Given the description of an element on the screen output the (x, y) to click on. 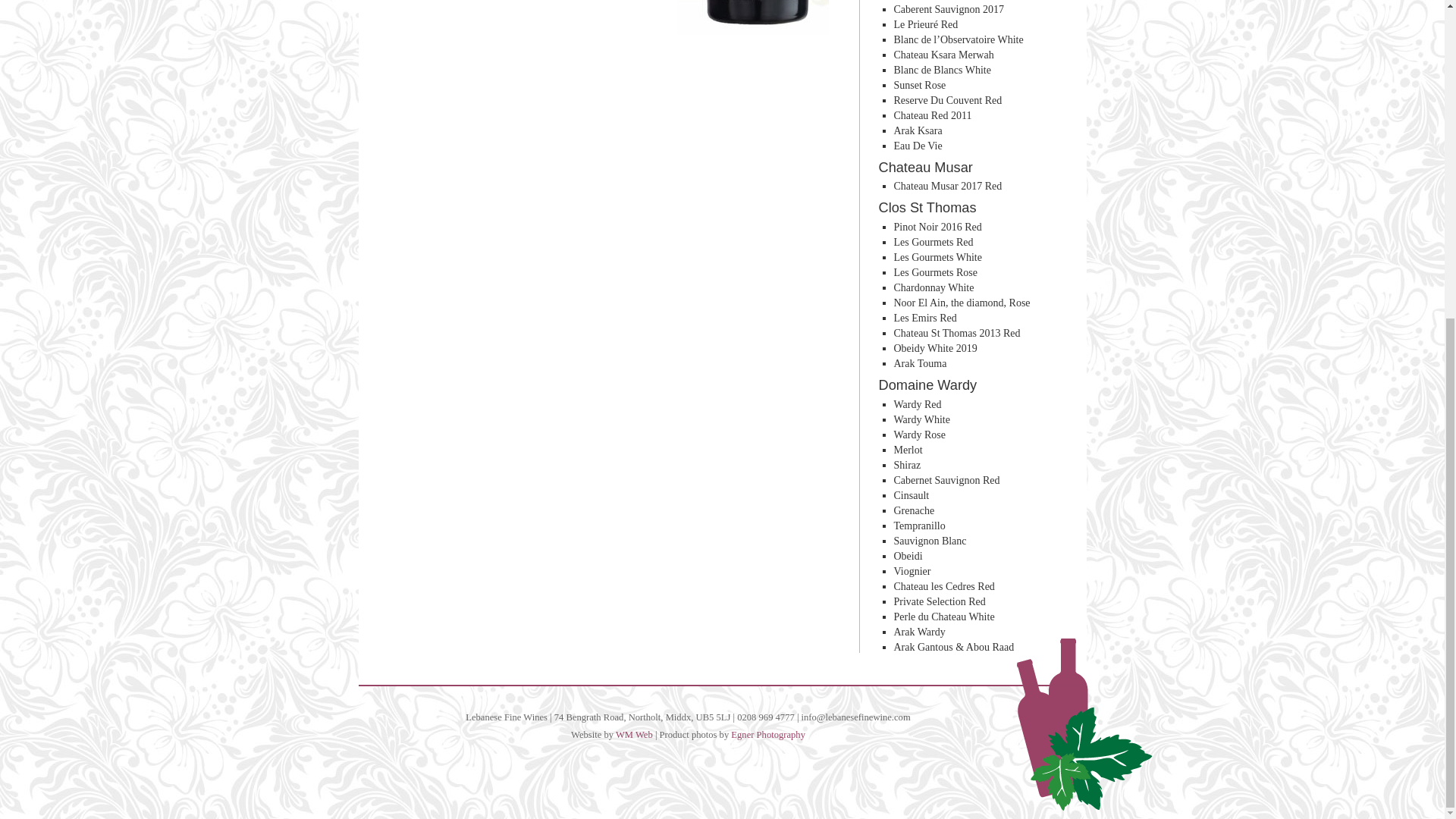
Chateau Ksara Merwah (942, 54)
Reserve Du Couvent Red (947, 100)
Blanc de Blancs White (941, 70)
Les Gourmets Red (932, 242)
Chateau Musar 2017 Red (947, 185)
Chardonnay White (933, 287)
Les Gourmets White (937, 256)
Chateau Red 2011 (932, 115)
Commercial Photographer West Midlands (767, 734)
Web Design West Midlands (633, 734)
Caberent Sauvignon 2017 (948, 9)
Sunset Rose (918, 84)
Eau De Vie (917, 145)
Les Gourmets Rose (934, 272)
Pinot Noir 2016 Red (937, 226)
